Given the description of an element on the screen output the (x, y) to click on. 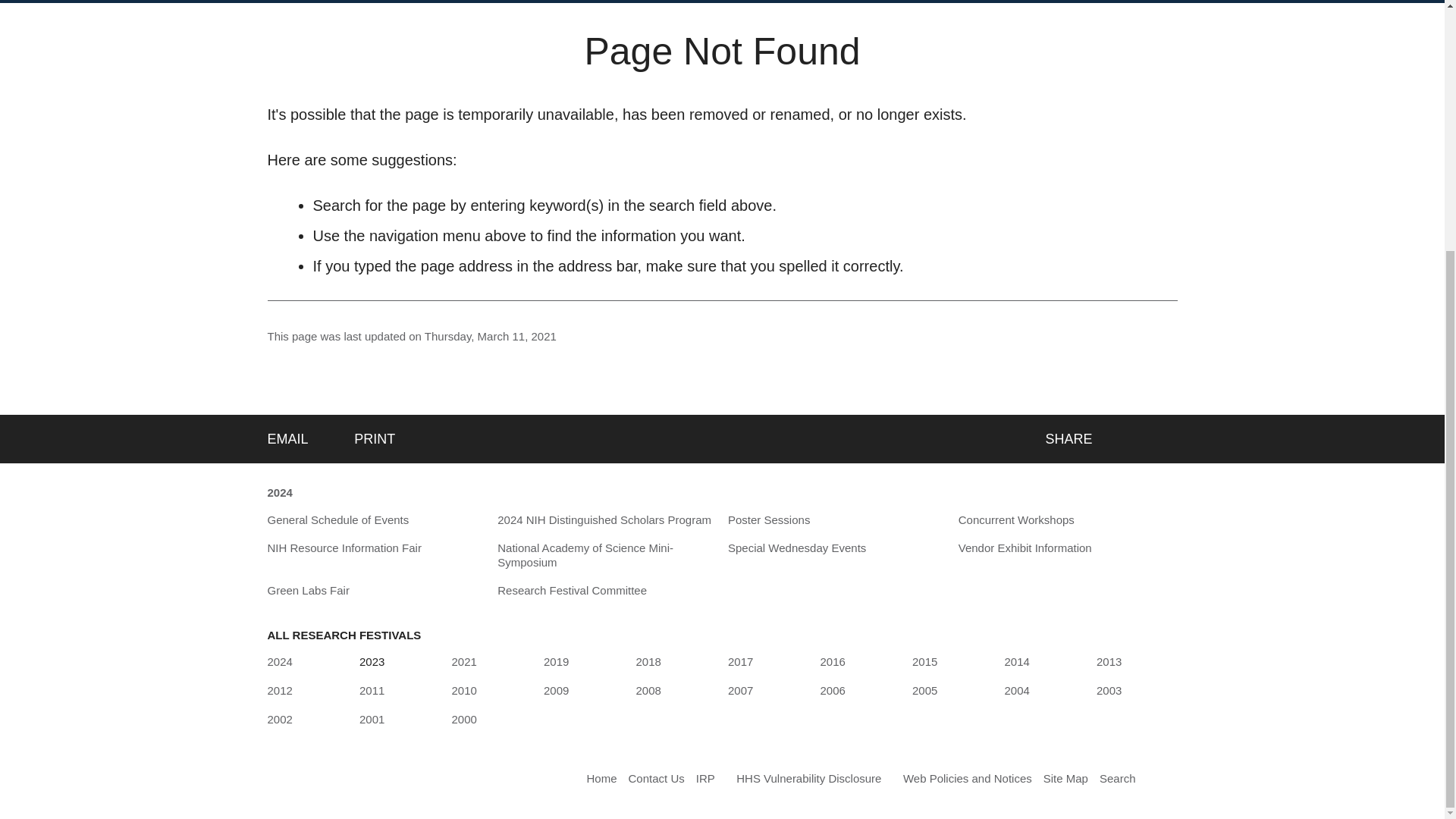
2024 NIH Research Festival (279, 492)
Special Wednesday Events (797, 548)
2024 NIH Distinguished Scholars Program (604, 520)
National Academy of Science Mini-Symposium  (606, 554)
Concurrent Workshops (1016, 520)
2024 NIH Research Festival (279, 661)
